Given the description of an element on the screen output the (x, y) to click on. 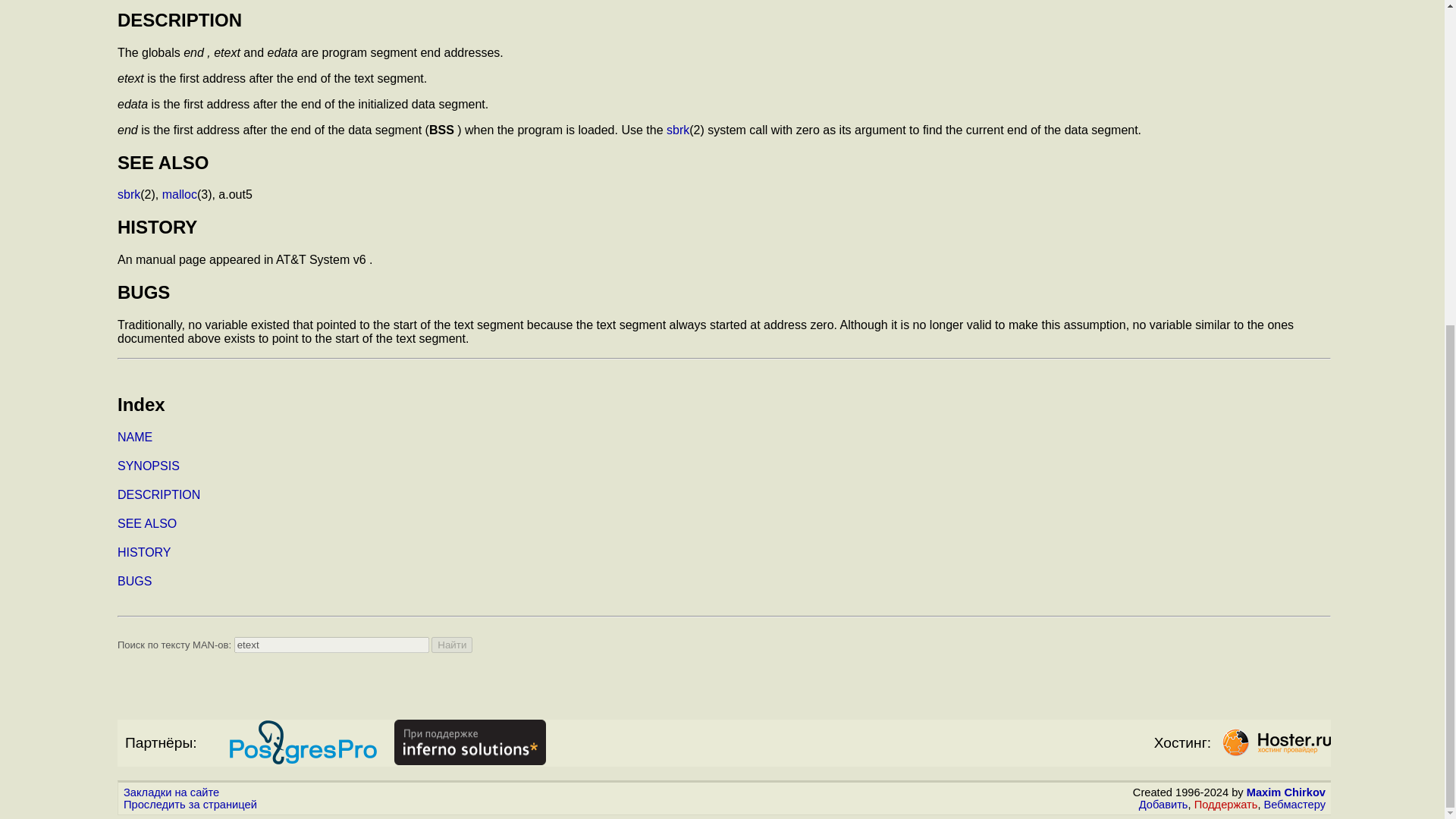
NAME (134, 436)
sbrk (128, 194)
sbrk (677, 129)
malloc (178, 194)
SYNOPSIS (148, 465)
etext (331, 644)
